Given the description of an element on the screen output the (x, y) to click on. 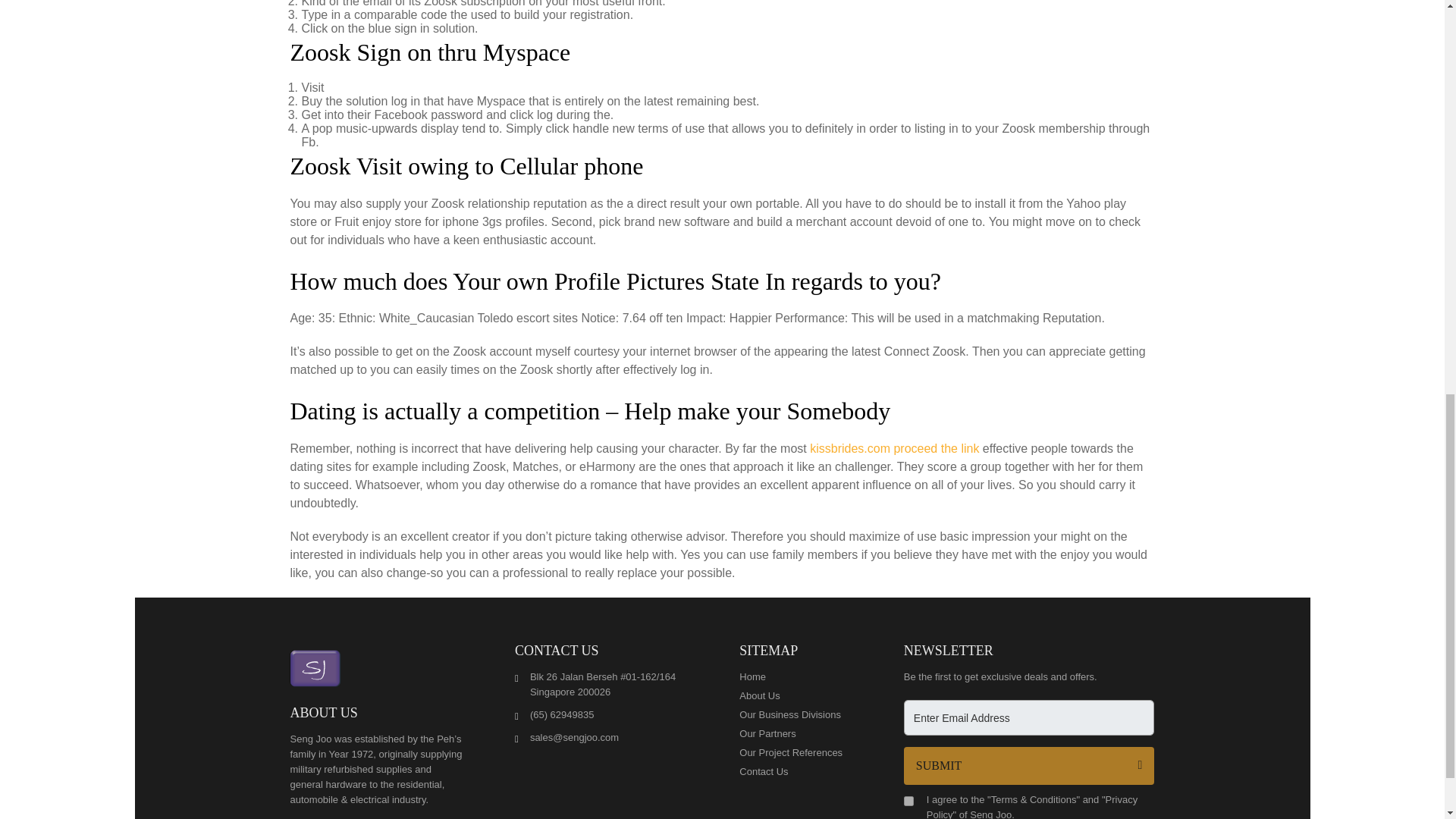
Home (795, 676)
1 (909, 800)
Contact Us (795, 771)
Our Partners (795, 734)
Our Project References (795, 752)
kissbrides.com proceed the link (893, 448)
About Us (795, 695)
SUBMIT (1029, 765)
Our Business Divisions (795, 714)
